Given the description of an element on the screen output the (x, y) to click on. 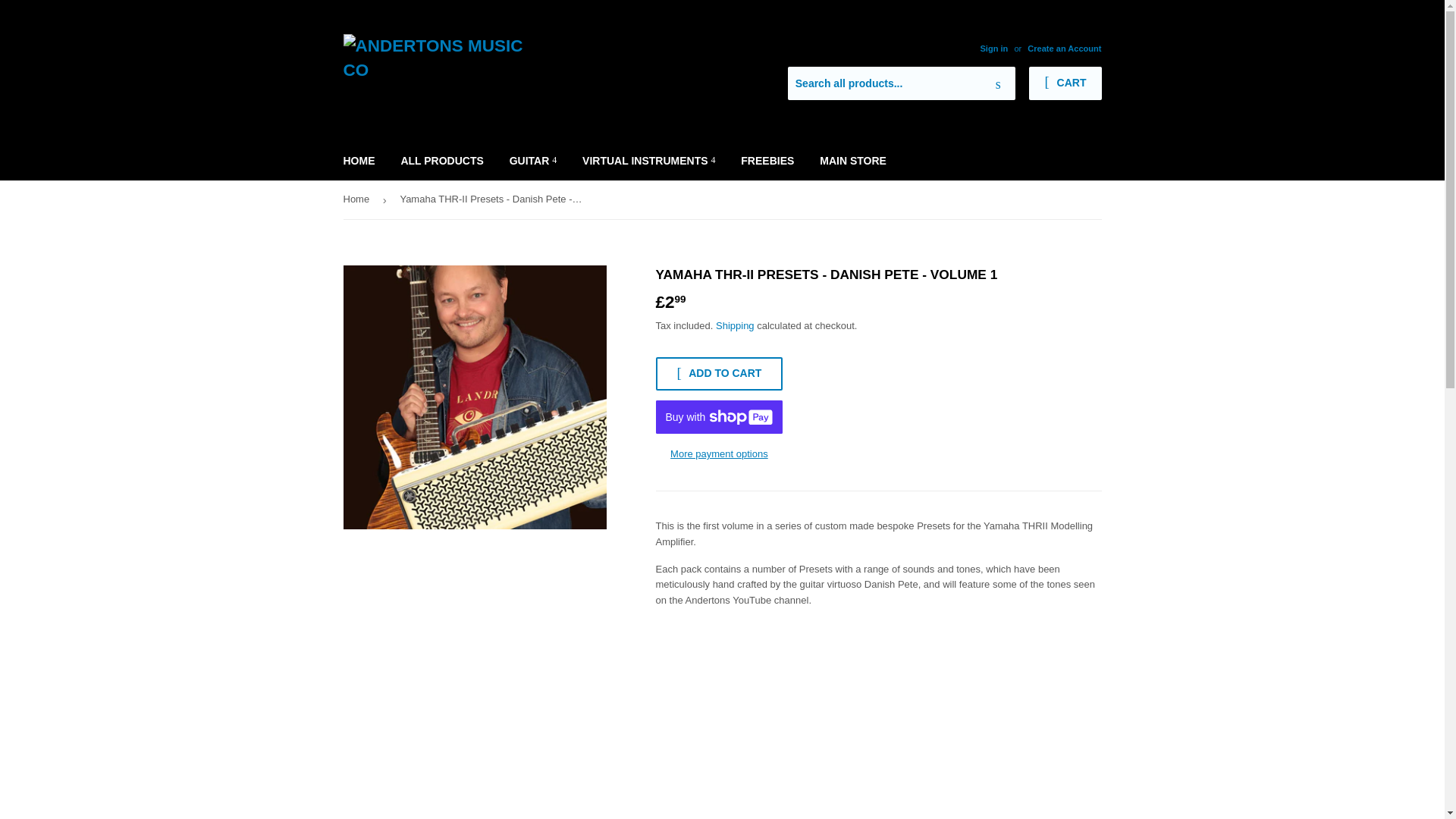
YouTube video player (877, 719)
HOME (359, 160)
Sign in (993, 48)
Shipping (735, 325)
GUITAR (533, 160)
Create an Account (1063, 48)
Search (997, 83)
ALL PRODUCTS (441, 160)
FREEBIES (767, 160)
MAIN STORE (853, 160)
CART (1064, 82)
VIRTUAL INSTRUMENTS (648, 160)
